Given the description of an element on the screen output the (x, y) to click on. 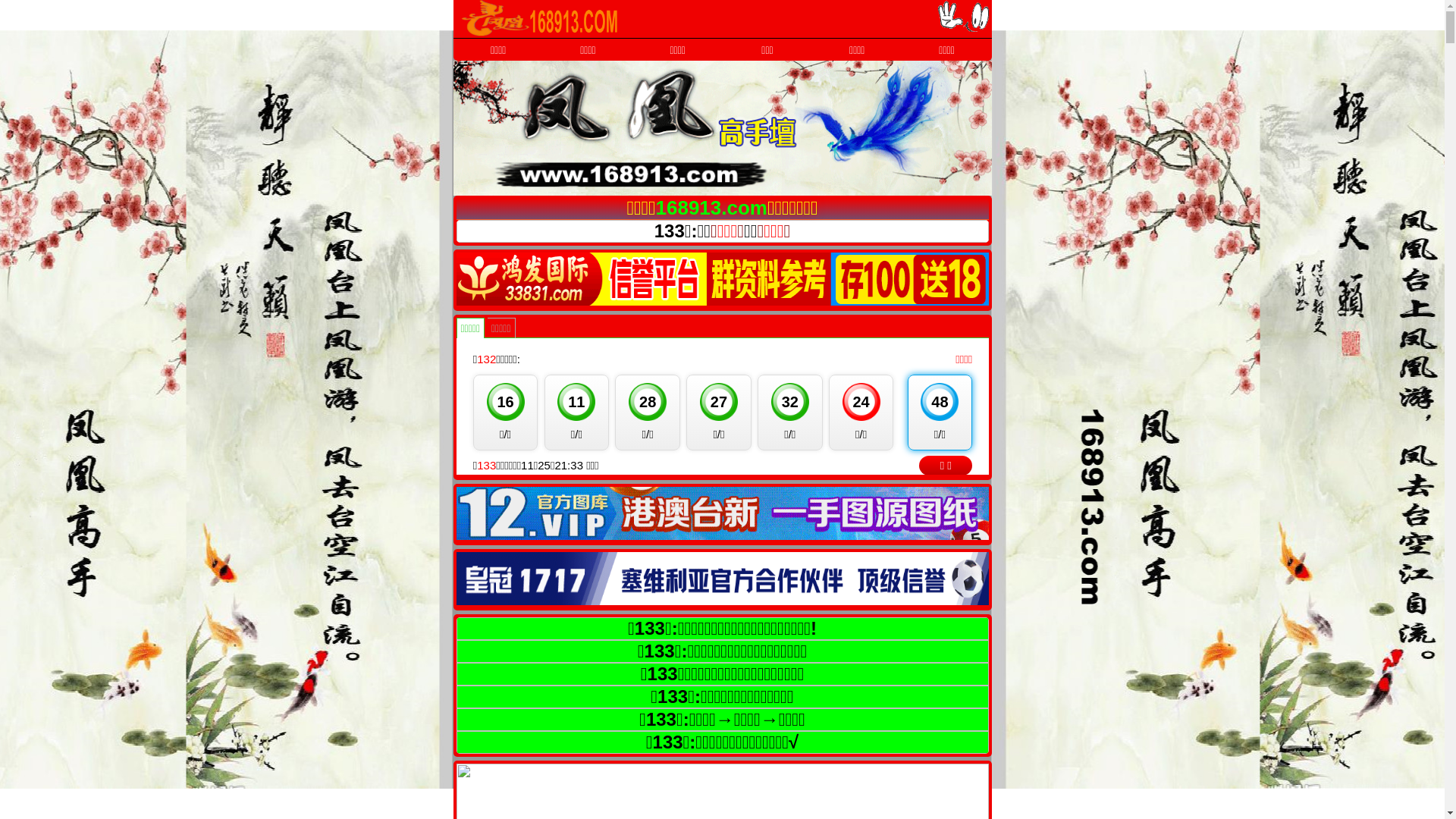
0 Element type: hover (722, 277)
0 Element type: hover (722, 578)
0 Element type: hover (722, 512)
